Given the description of an element on the screen output the (x, y) to click on. 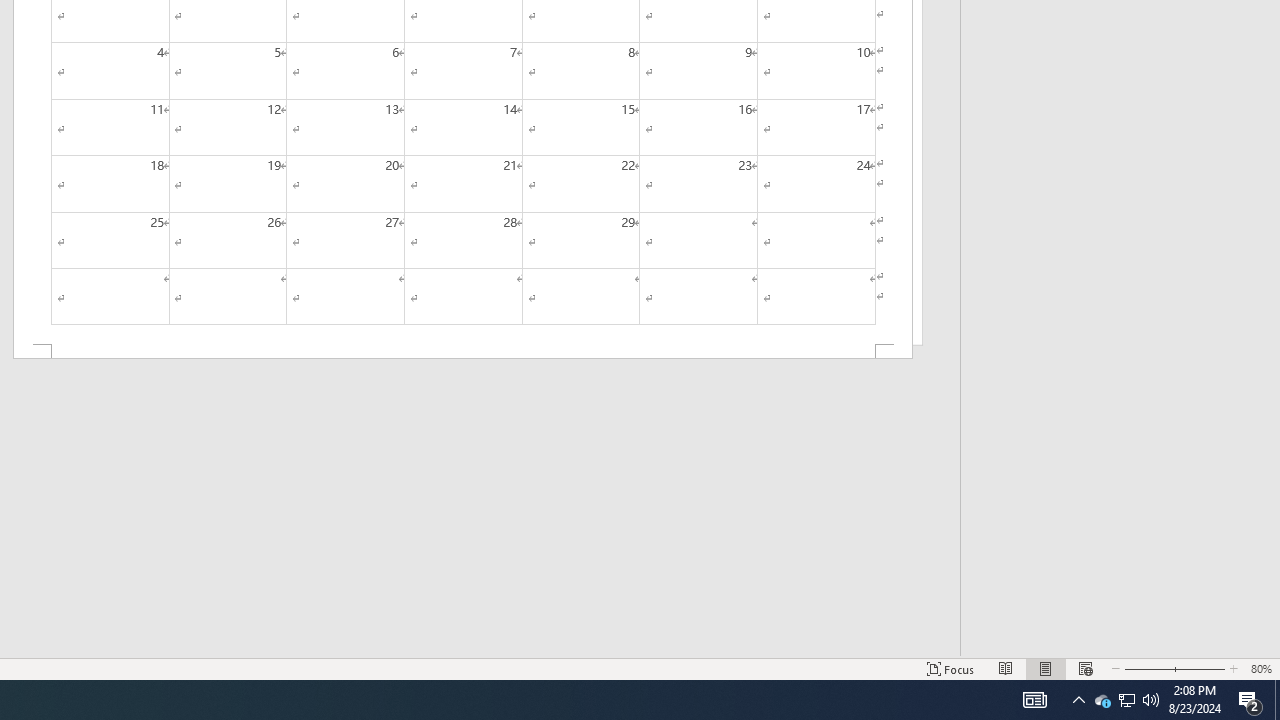
Footer -Section 2- (462, 351)
